Given the description of an element on the screen output the (x, y) to click on. 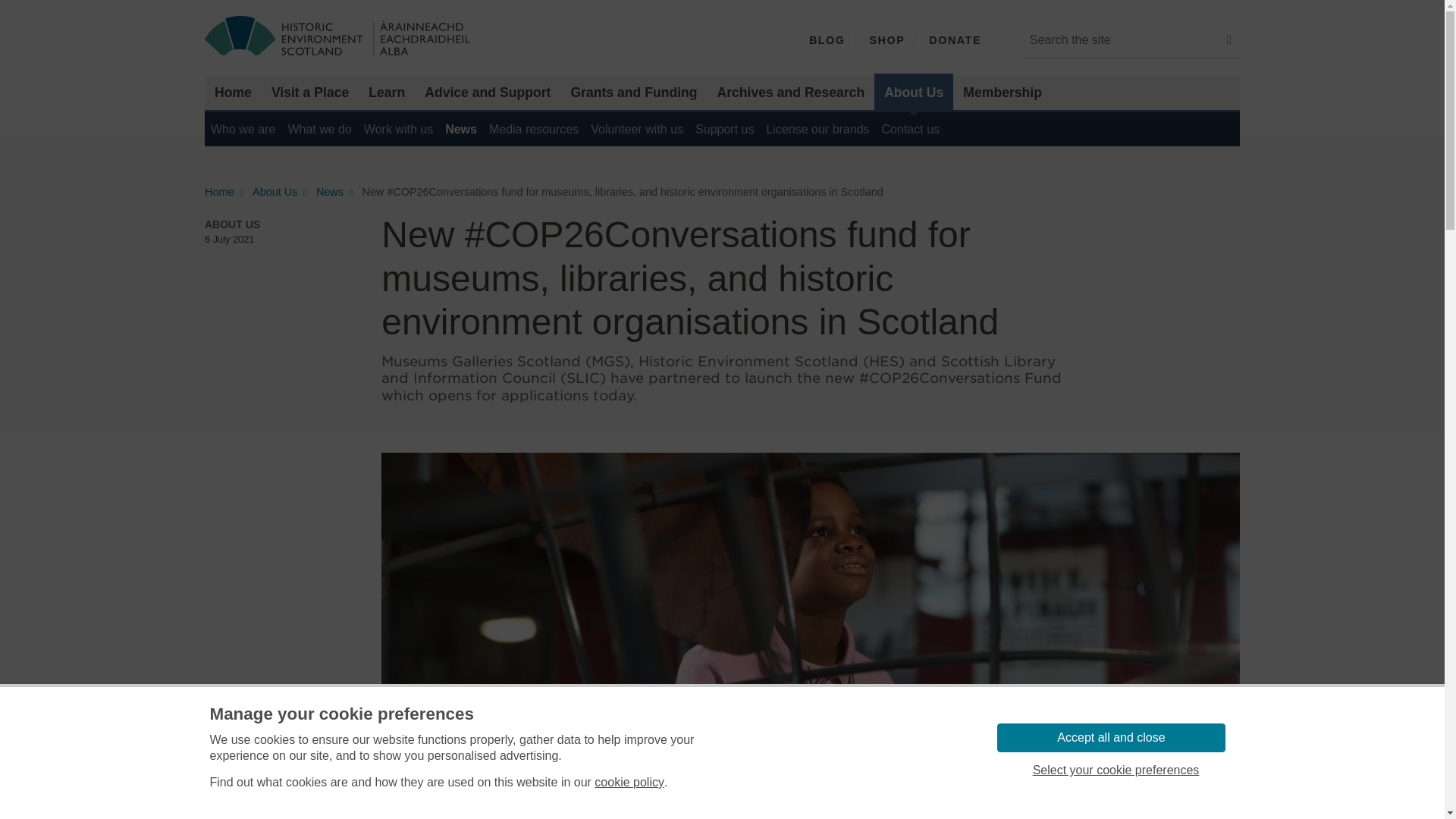
Visit a Place (310, 92)
Select your cookie preferences (1114, 770)
Accept all and close (1110, 737)
cookie policy (628, 782)
Home (233, 92)
Learn (386, 92)
Advice and Support (487, 92)
